Given the description of an element on the screen output the (x, y) to click on. 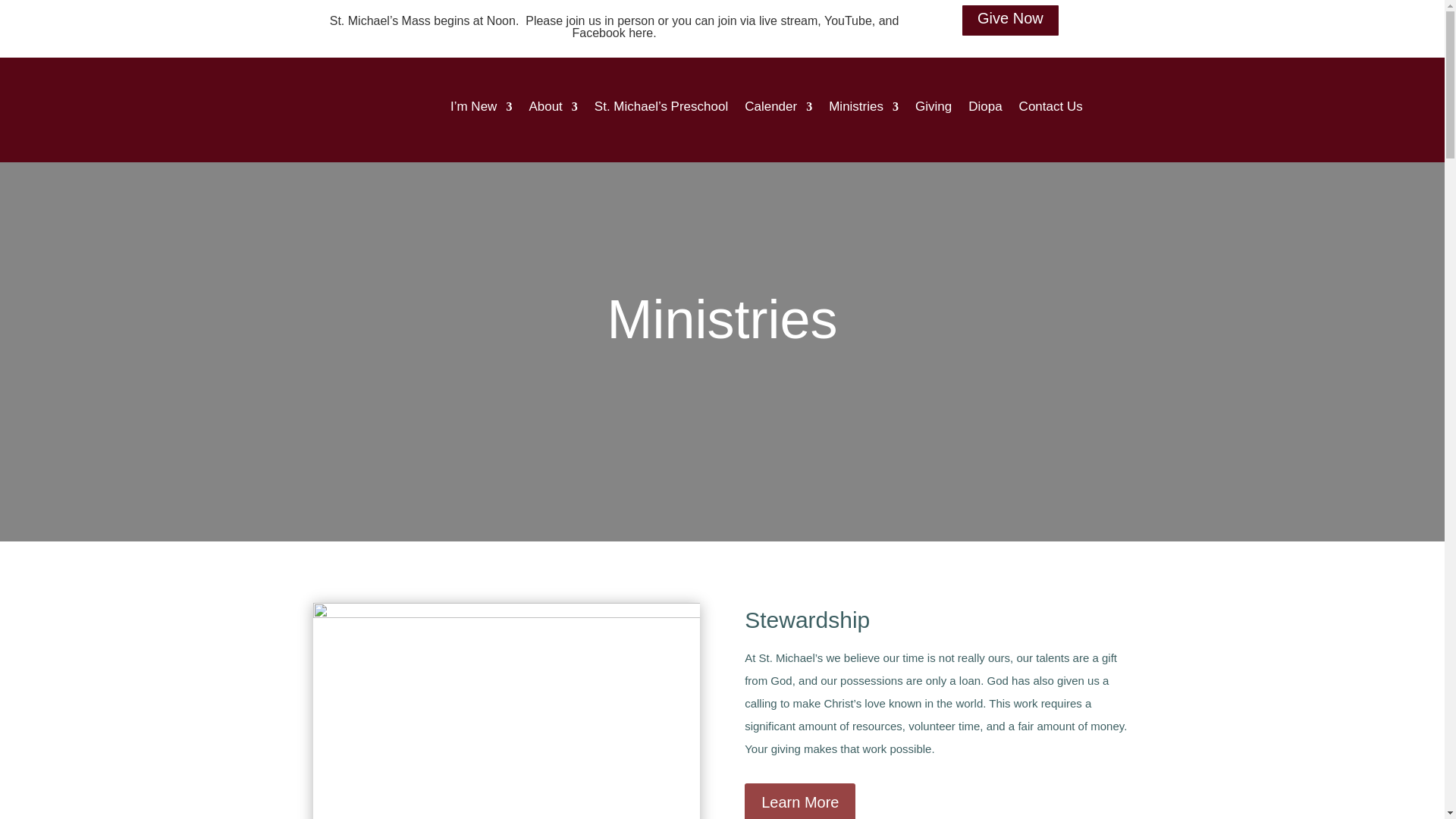
Facebook (598, 32)
Contact Us (1051, 106)
YouTube (848, 20)
Calender (778, 106)
DSC09681 (505, 710)
Ministries (863, 106)
Give Now (1009, 20)
